Given the description of an element on the screen output the (x, y) to click on. 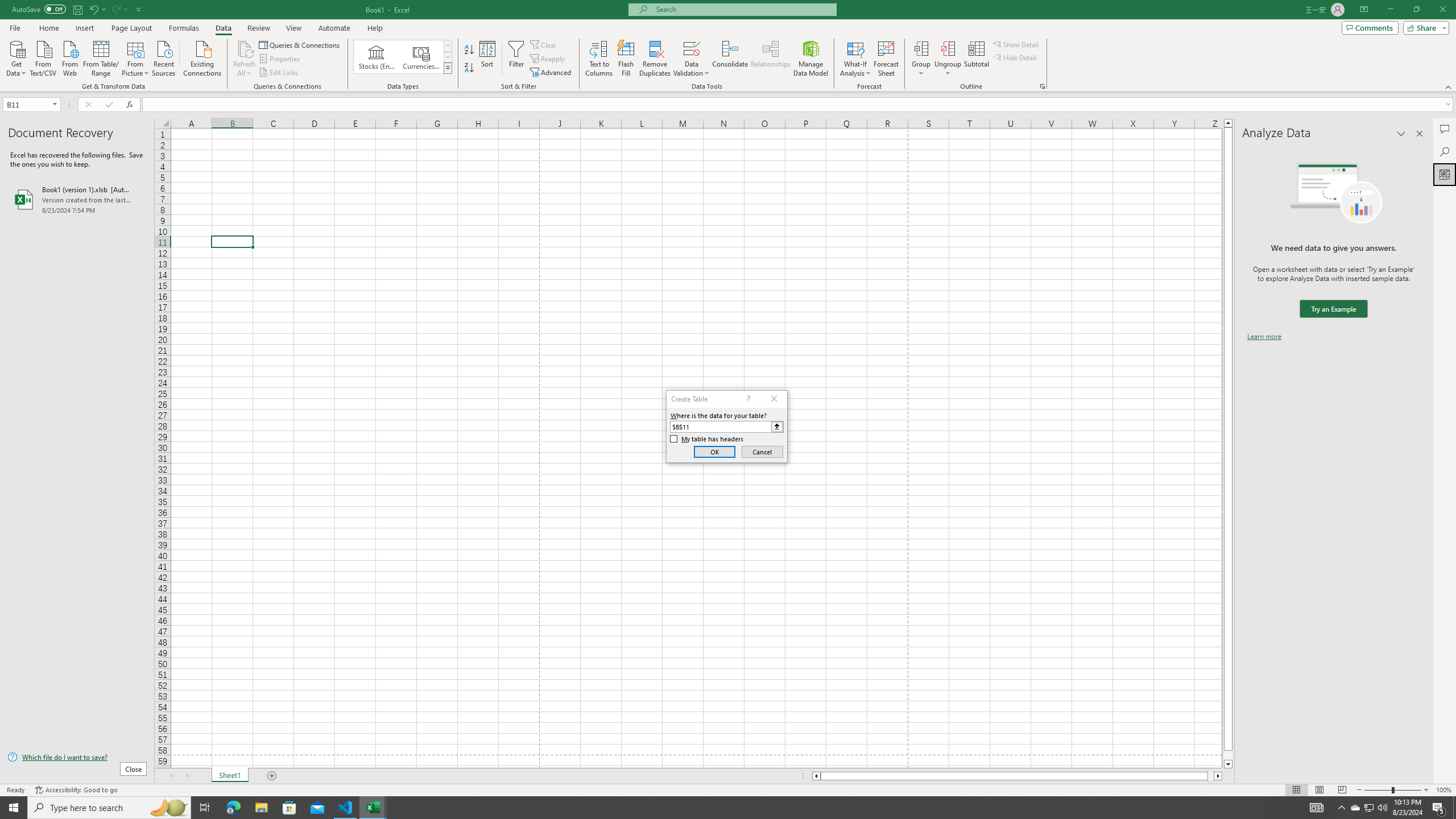
Remove Duplicates (654, 58)
Currencies (English) (420, 56)
Scroll Left (171, 775)
Undo (96, 9)
Ungroup... (947, 48)
Save (77, 9)
Data Validation... (691, 58)
Ribbon Display Options (1364, 9)
Filter (515, 58)
Help (374, 28)
What-If Analysis (855, 58)
Comments (1444, 128)
Properties (280, 58)
Refresh All (244, 48)
Customize Quick Access Toolbar (139, 9)
